Given the description of an element on the screen output the (x, y) to click on. 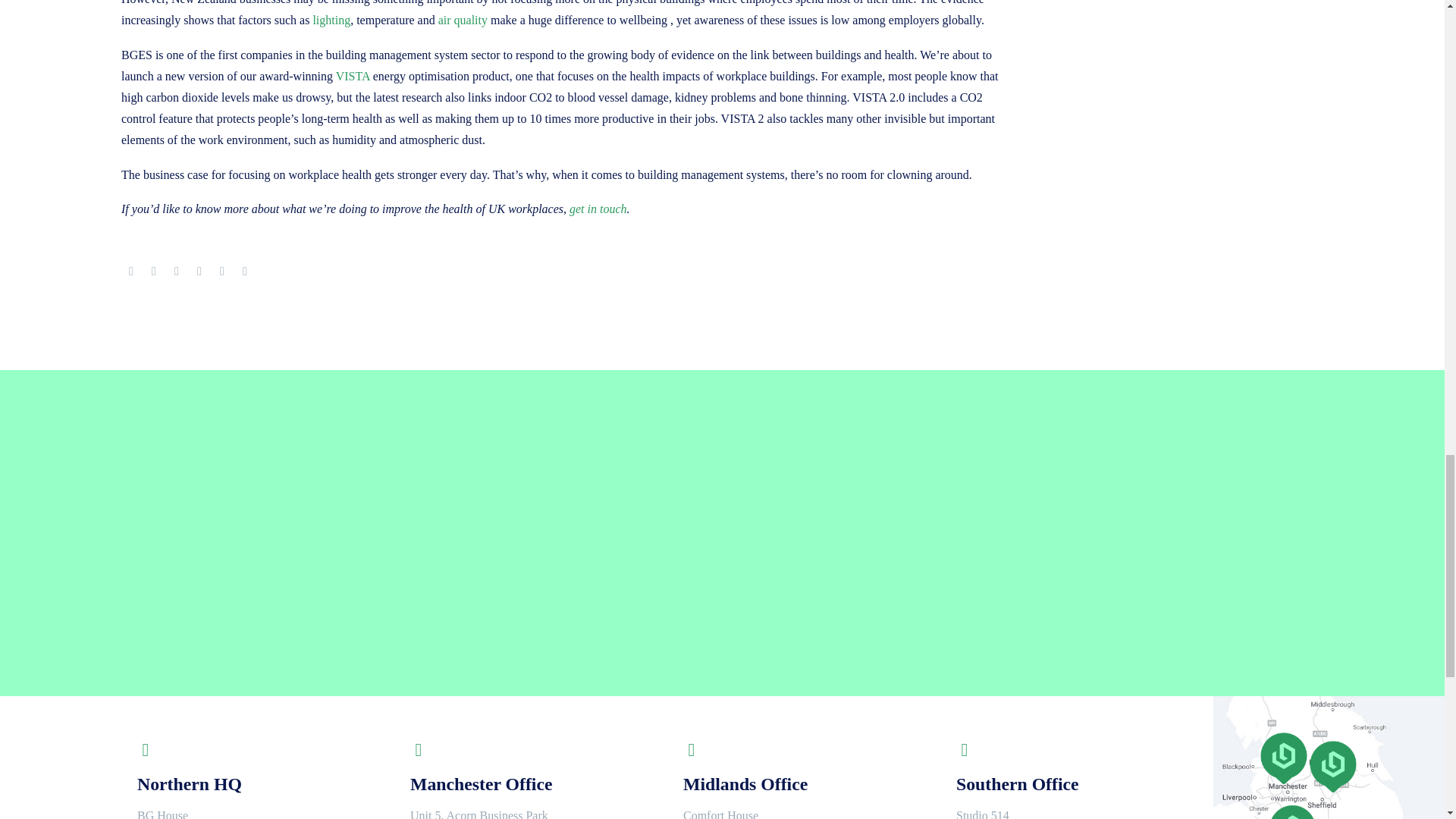
Reddit (244, 271)
Tumblr (199, 271)
Twitter (154, 271)
Facebook (130, 271)
Pinterest (176, 271)
LinkedIn (221, 271)
